Given the description of an element on the screen output the (x, y) to click on. 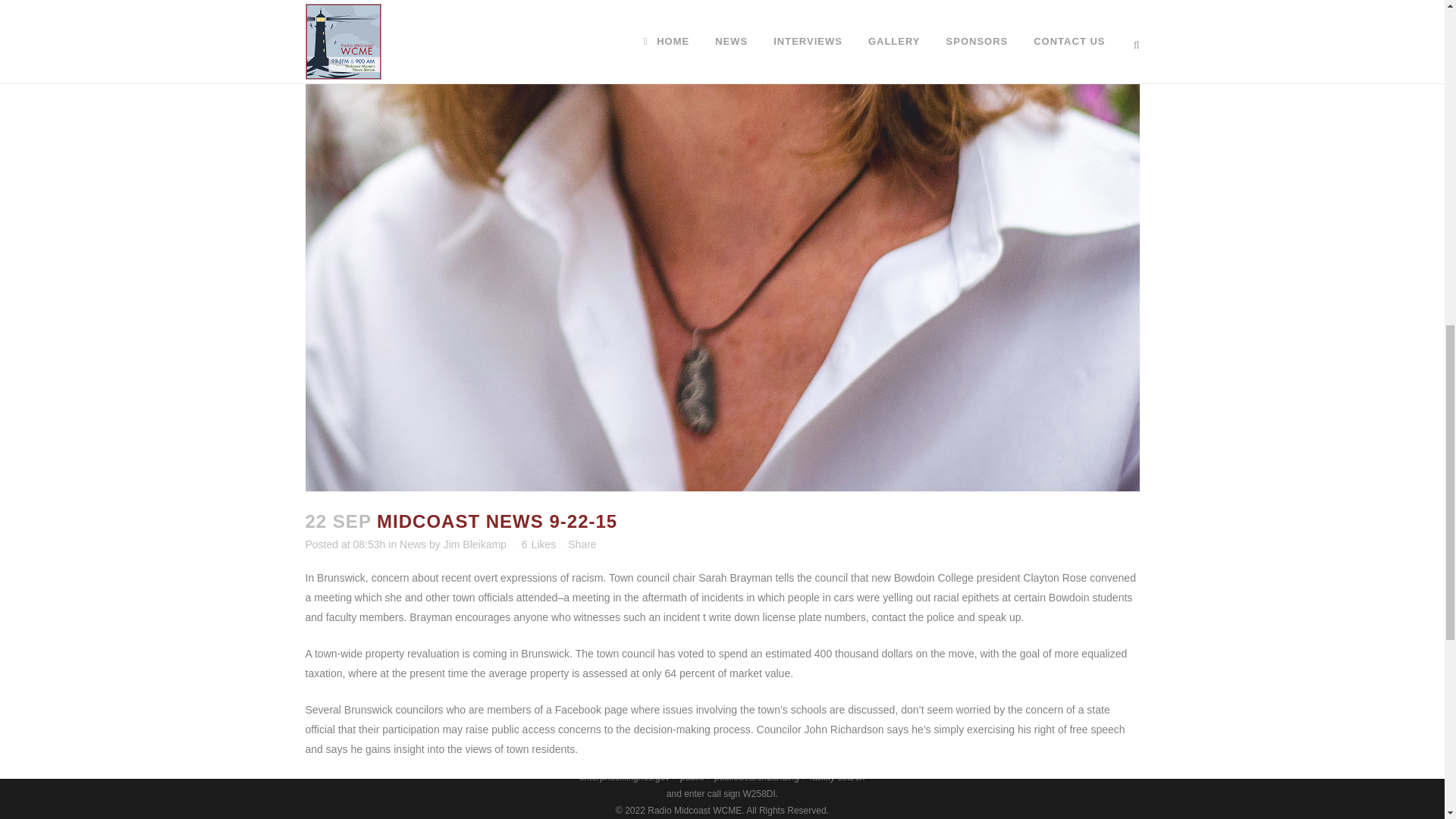
6 Likes (538, 543)
Share (581, 544)
Like this (538, 543)
Jim Bleikamp (475, 544)
News (412, 544)
